Given the description of an element on the screen output the (x, y) to click on. 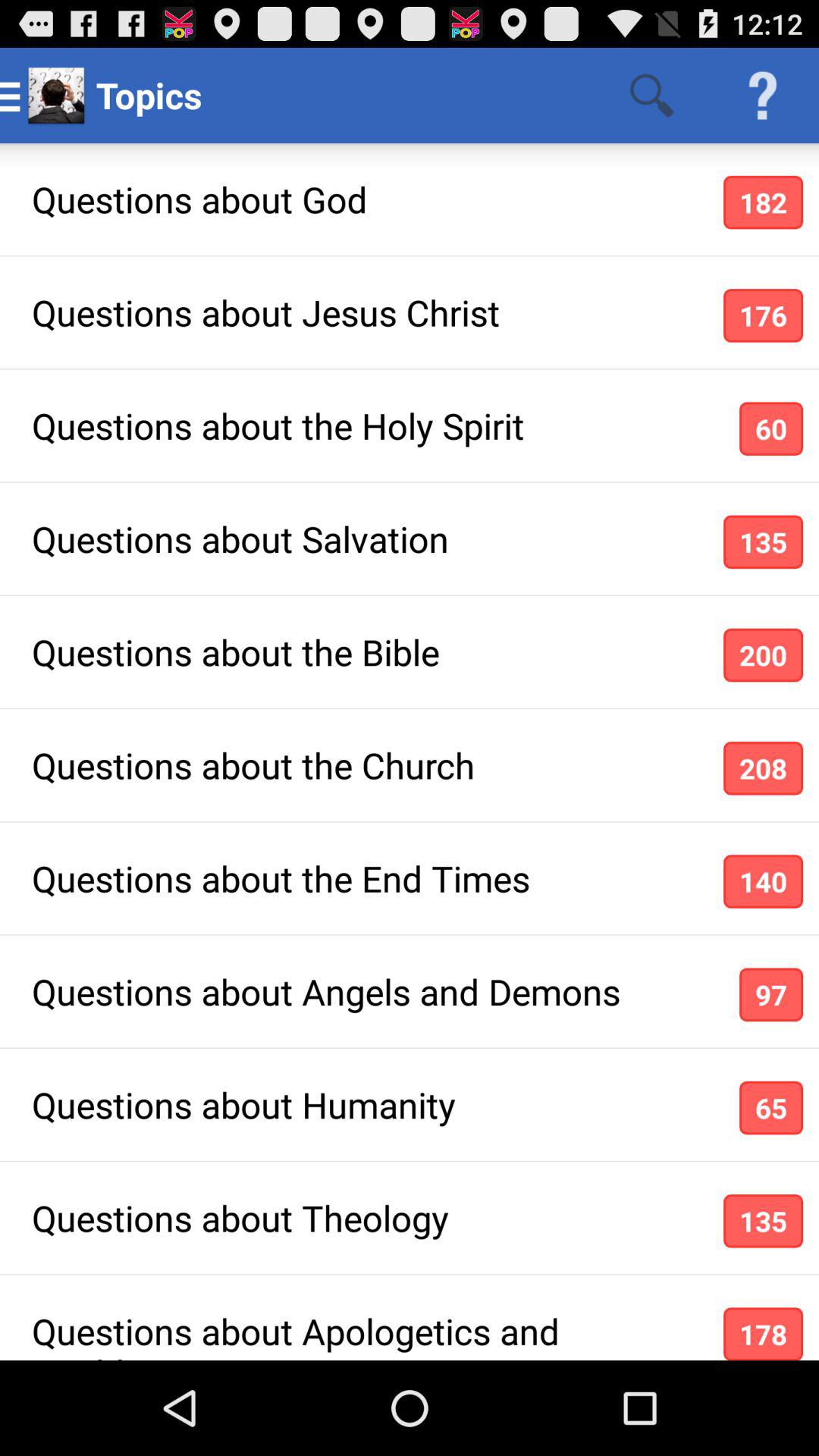
choose icon below questions about god icon (763, 315)
